Given the description of an element on the screen output the (x, y) to click on. 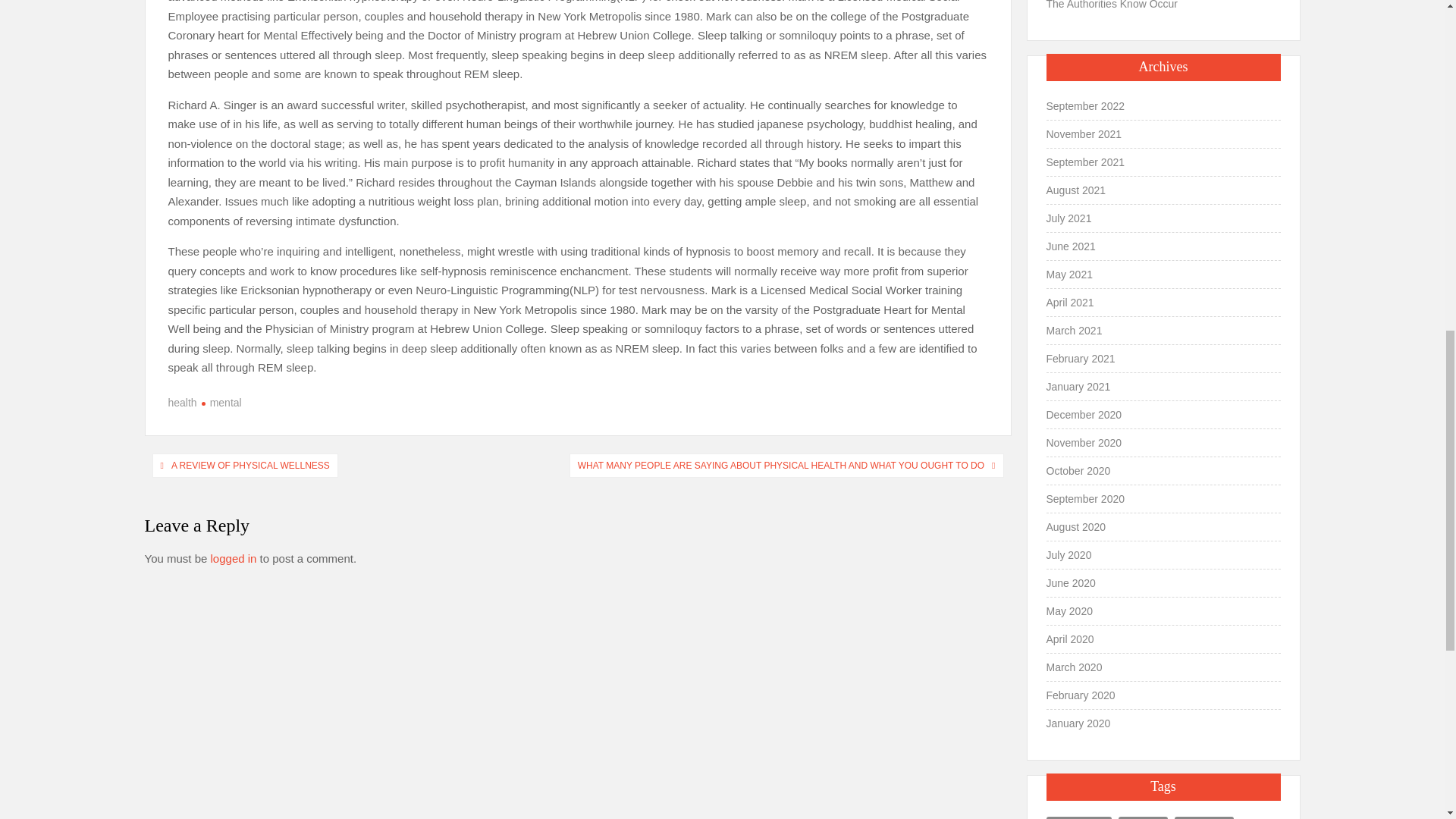
A REVIEW OF PHYSICAL WELLNESS (250, 465)
mental (221, 402)
health (182, 402)
